Given the description of an element on the screen output the (x, y) to click on. 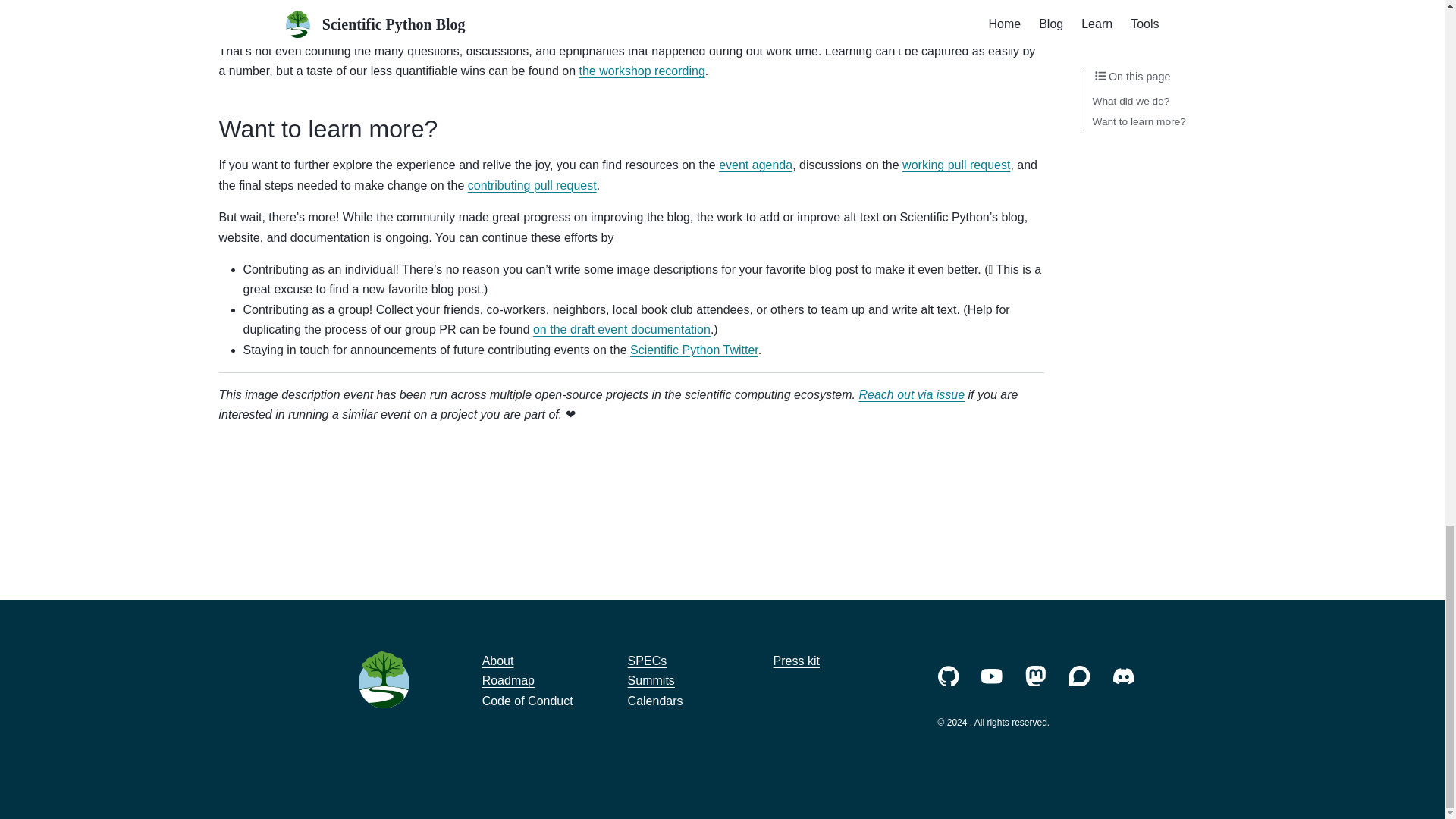
the workshop recording (641, 70)
SPECs (646, 660)
Mastodon (1035, 676)
writing alt text in different situations (472, 19)
Scientific Python Twitter (694, 349)
event agenda (755, 164)
Press kit (796, 660)
Code of Conduct (527, 700)
contributing pull request (531, 185)
Reach out via issue (911, 394)
